Given the description of an element on the screen output the (x, y) to click on. 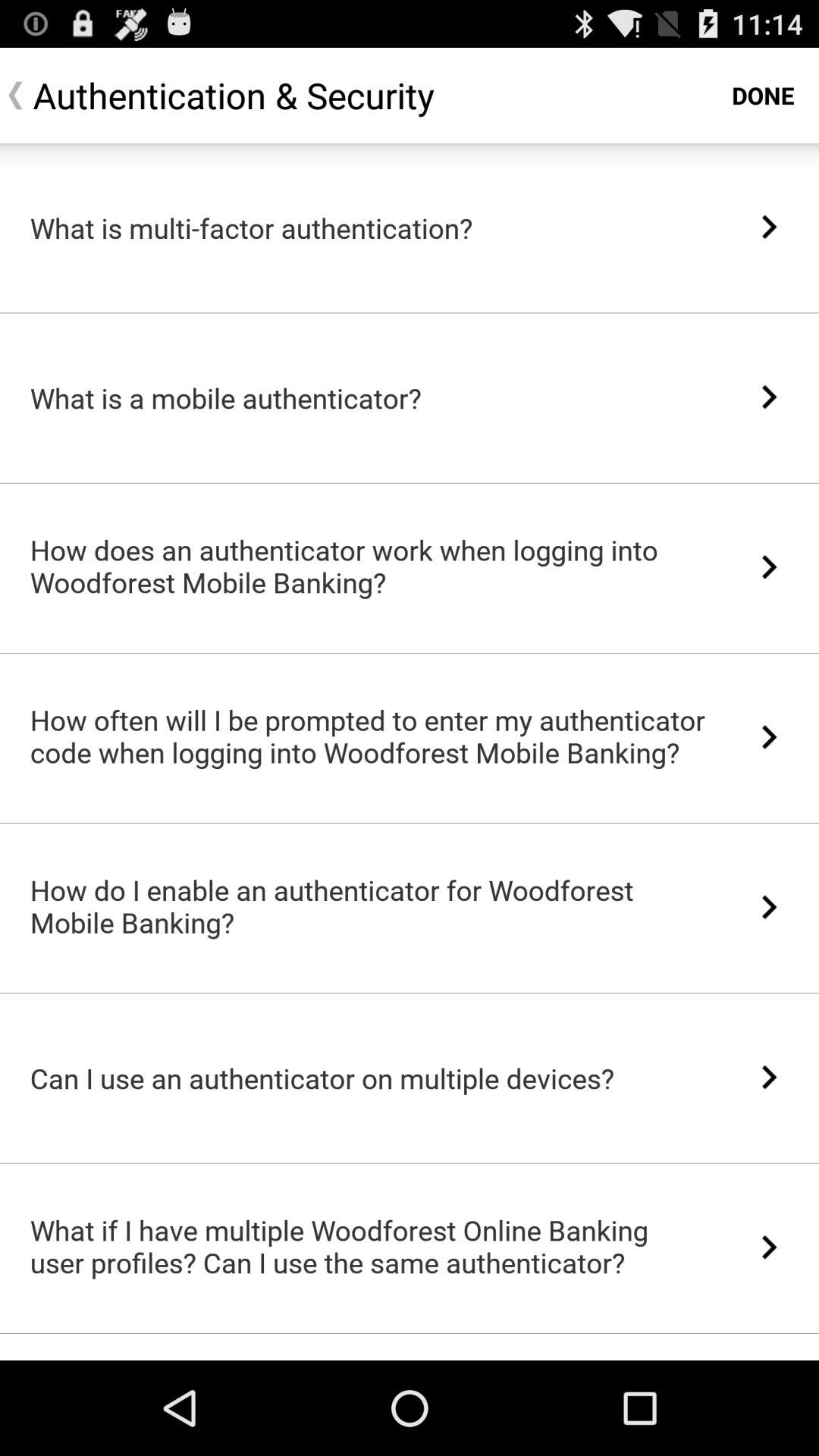
open the item above what if i (409, 1163)
